Given the description of an element on the screen output the (x, y) to click on. 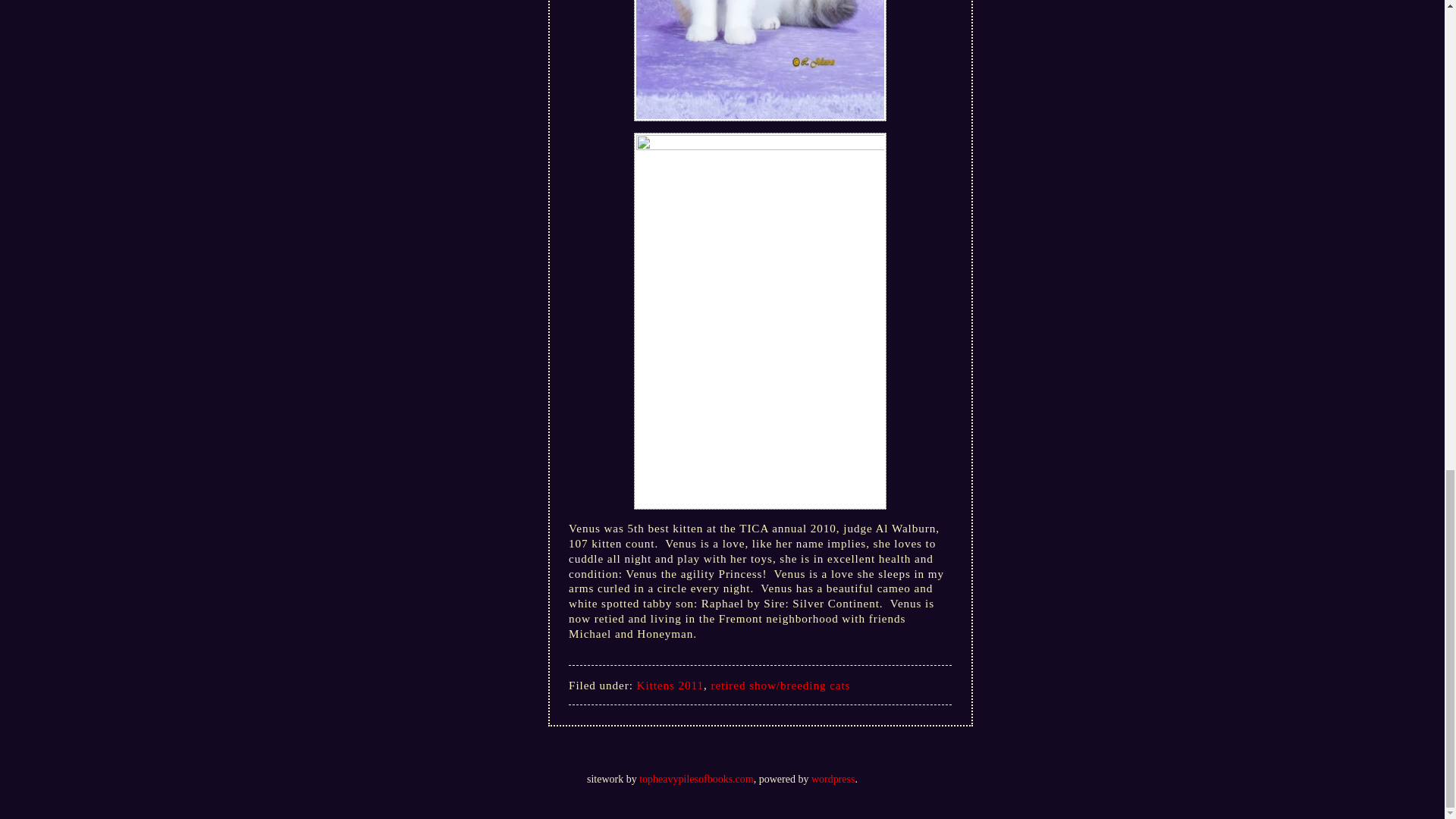
Kittens 2011 (670, 684)
topheavypilesofbooks.com (695, 778)
wordpress (833, 778)
Venus (759, 60)
